Given the description of an element on the screen output the (x, y) to click on. 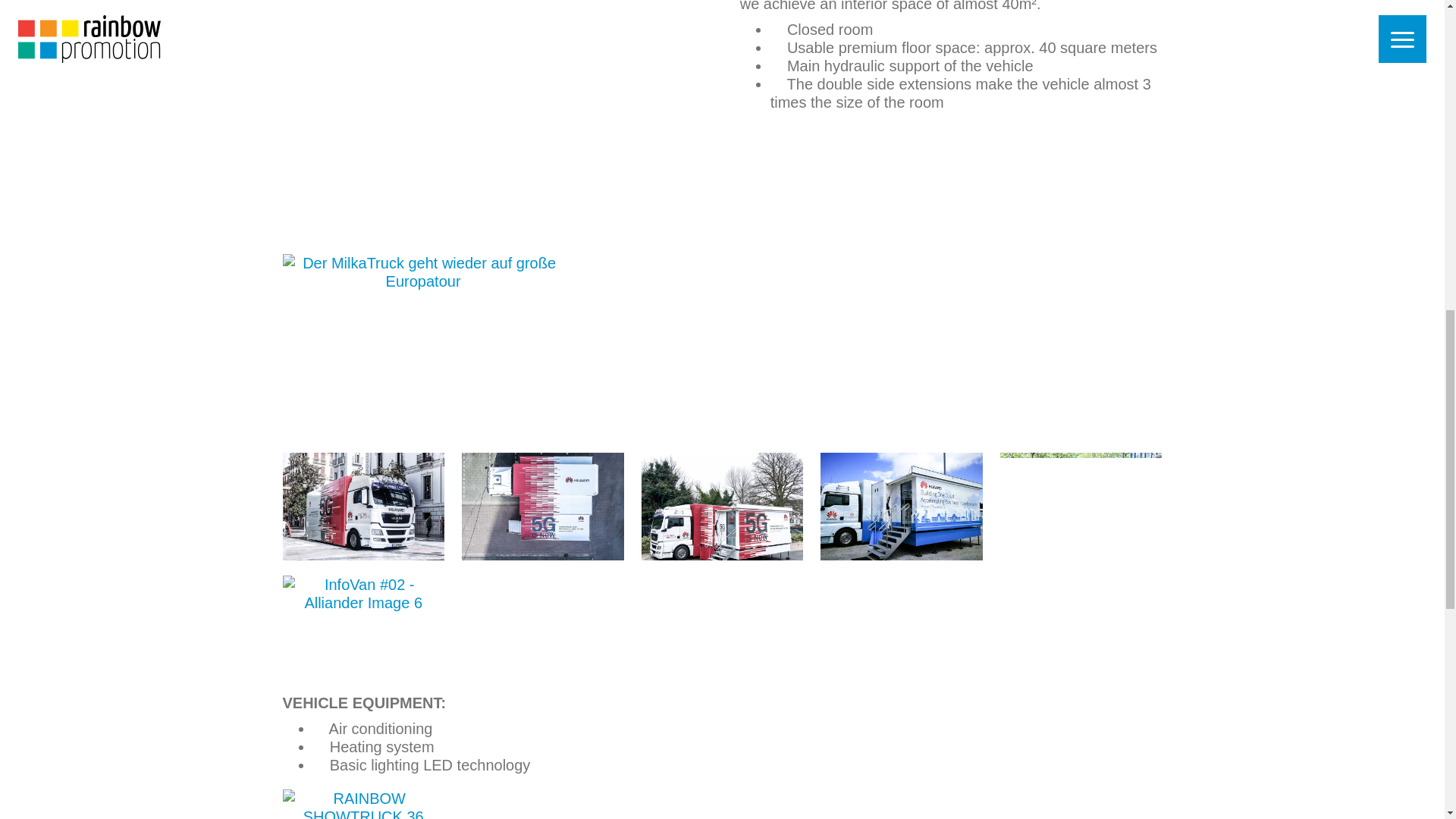
Huawei Roadshow with stairs Image 4 (901, 506)
Huawei Roadshow Truck 5G Image 3 (722, 506)
Showtruck 36 Huawei 5G Tour (493, 119)
Huawei 2018 showtruck 5G Image 1 (363, 506)
Albert Heijn Roadshow Showtruck Netherlands Image 5 (1080, 506)
Huawei Roadshow Truck from above Image 2 (542, 506)
